Given the description of an element on the screen output the (x, y) to click on. 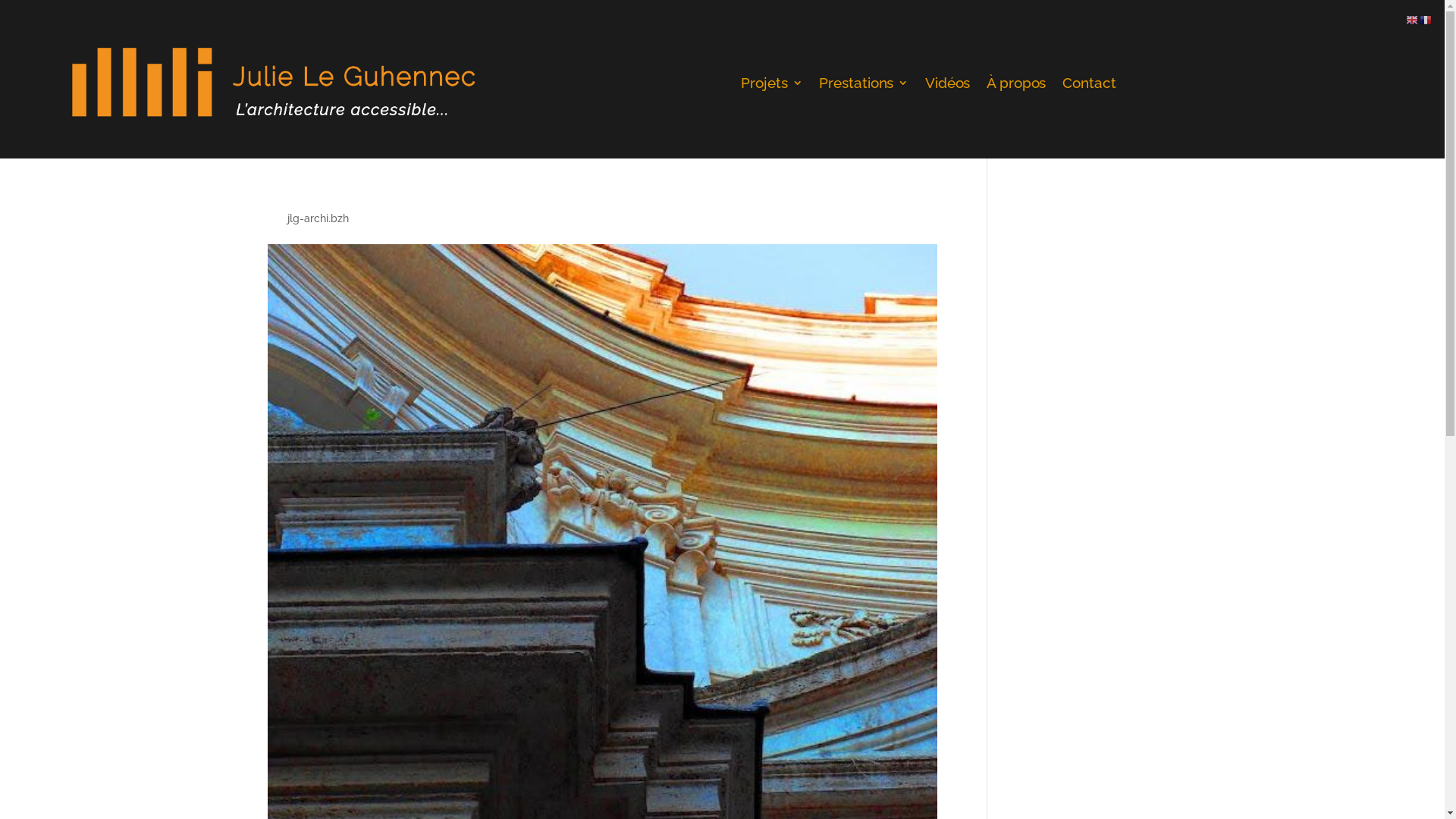
Prestations Element type: text (864, 86)
English Element type: hover (1412, 19)
jlg-archi.bzh Element type: text (317, 218)
Projets Element type: text (772, 86)
Contact Element type: text (1089, 86)
